Given the description of an element on the screen output the (x, y) to click on. 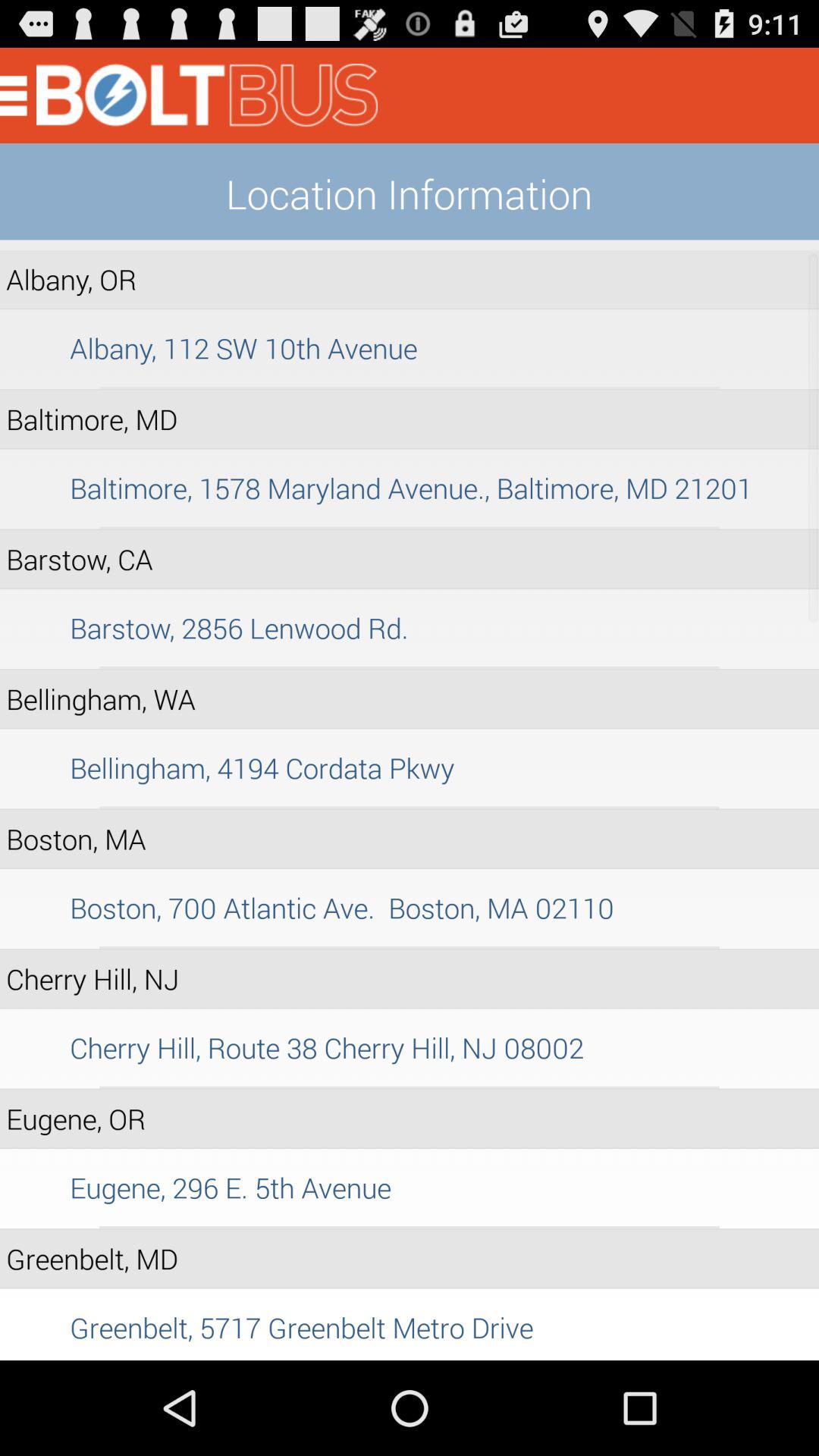
open item below the boston 700 atlantic app (409, 947)
